Given the description of an element on the screen output the (x, y) to click on. 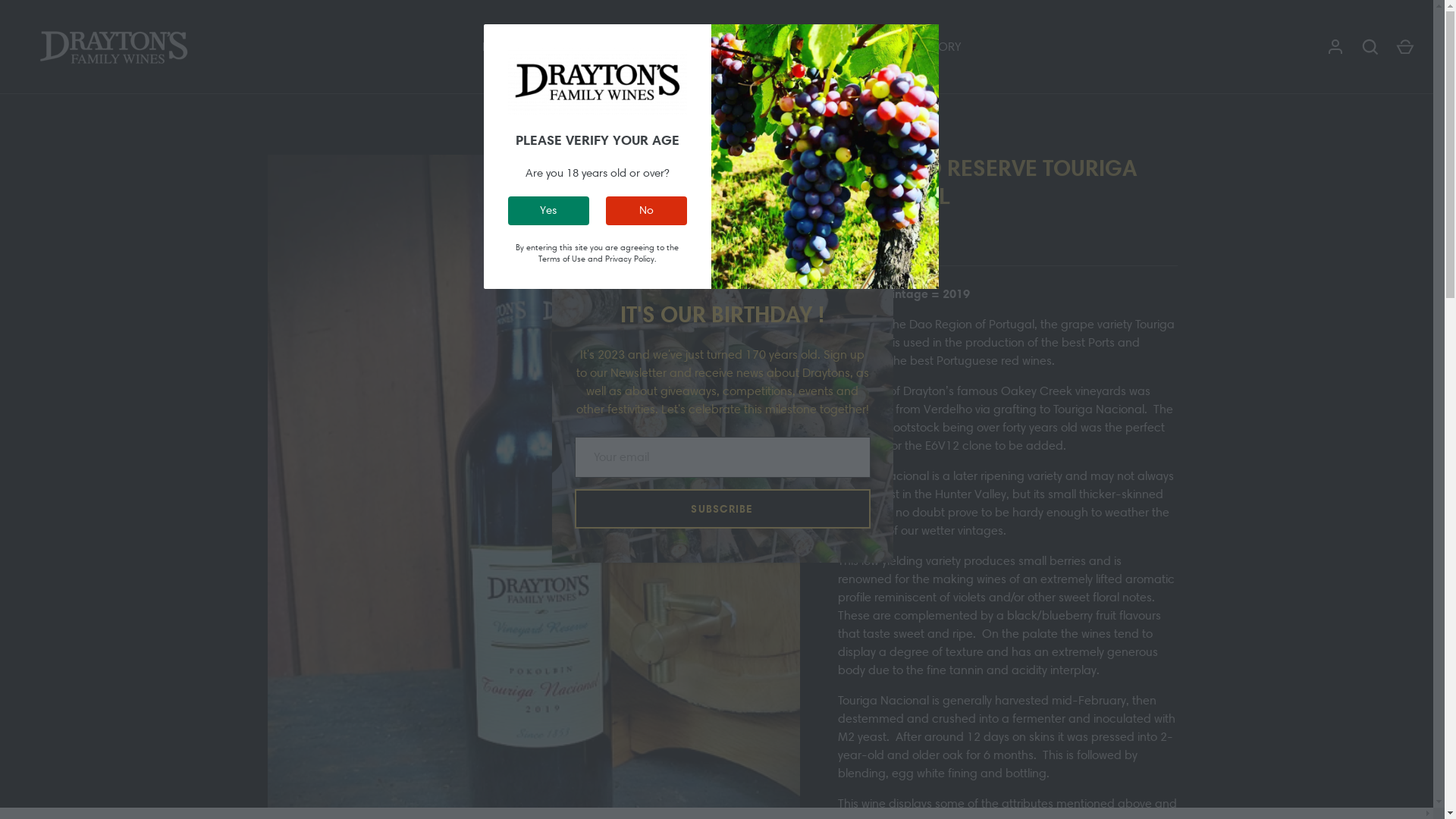
SHOP Element type: text (579, 46)
Yes Element type: text (548, 210)
VISIT/CONTACT Element type: text (836, 46)
No Element type: text (645, 210)
OUR STORY Element type: text (929, 46)
SUBSCRIBE Element type: text (722, 519)
EVENTS Element type: text (755, 46)
WINE CLUB Element type: text (642, 46)
BOOK NOW Element type: text (514, 46)
